Given the description of an element on the screen output the (x, y) to click on. 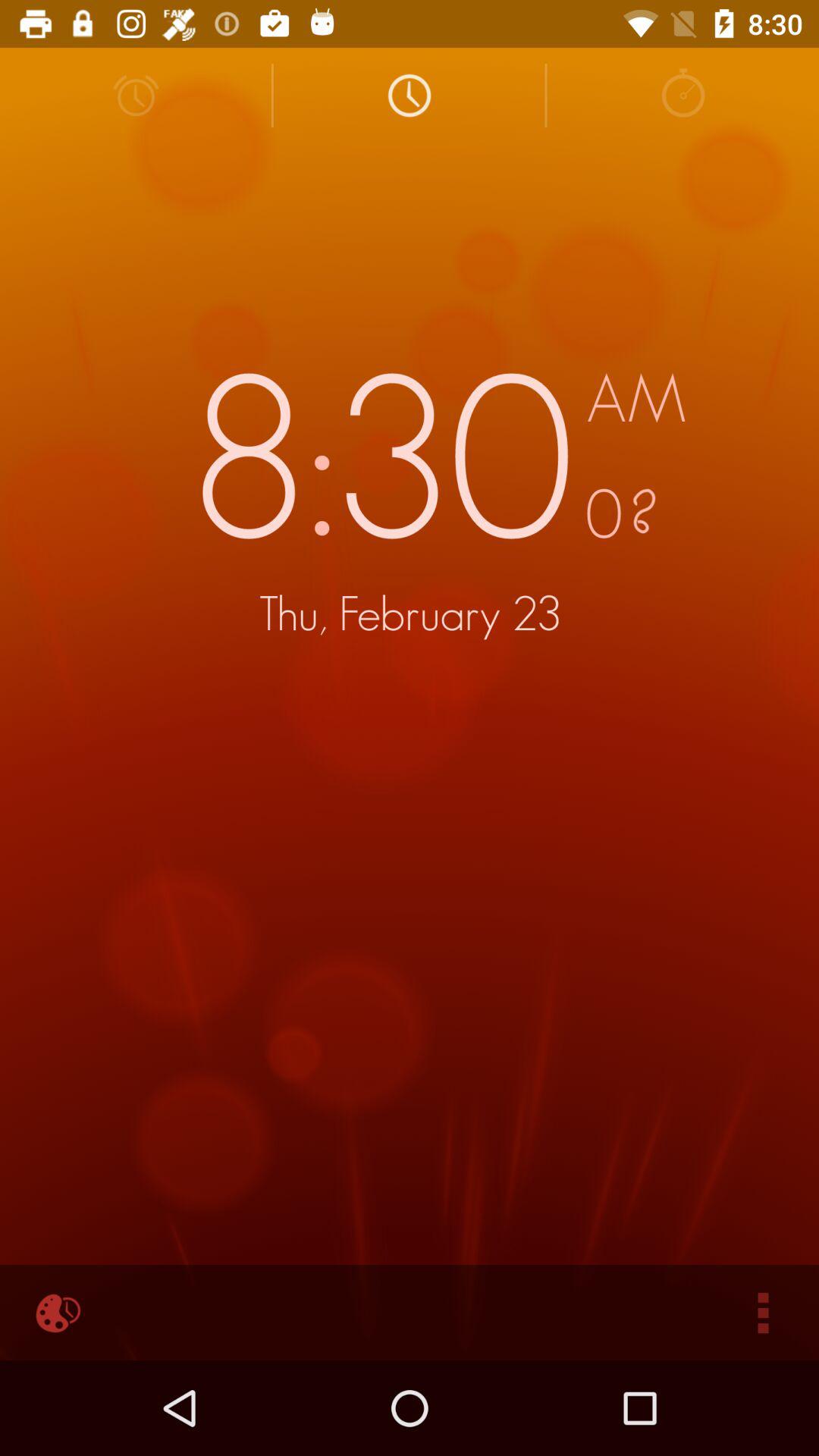
touch screen pallete (55, 1312)
